Given the description of an element on the screen output the (x, y) to click on. 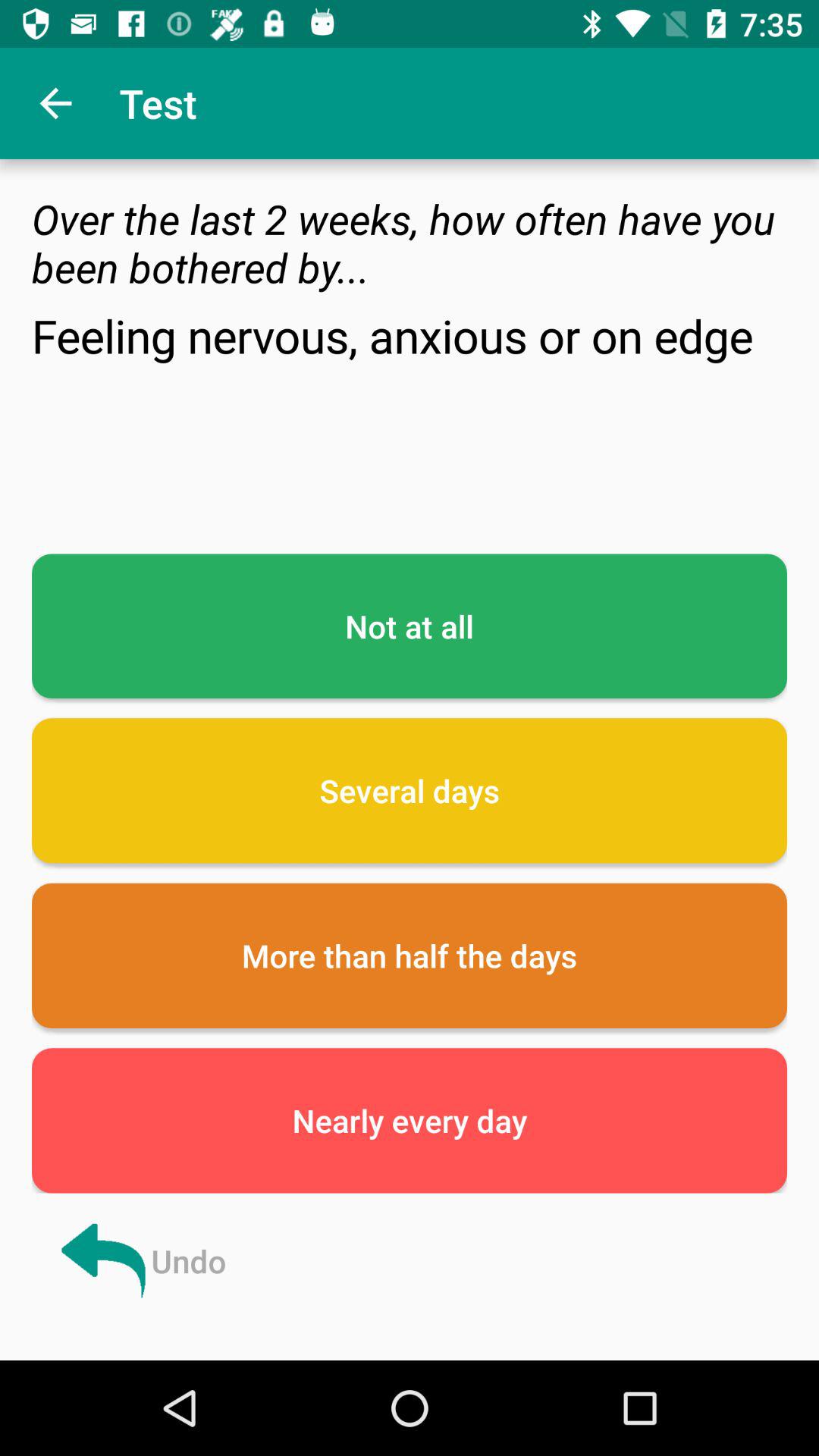
jump to the more than half (409, 955)
